Given the description of an element on the screen output the (x, y) to click on. 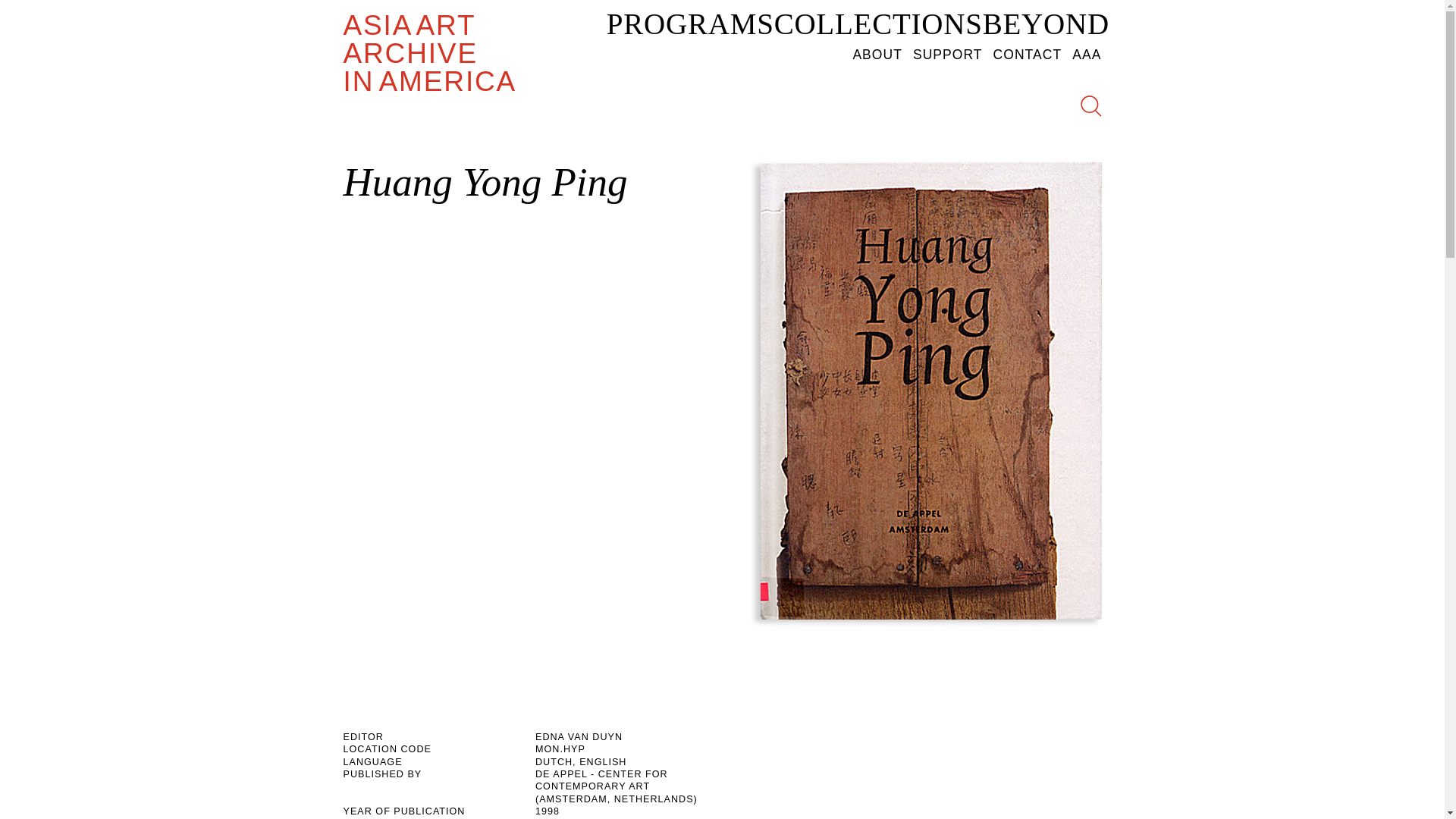
Search (1062, 202)
